Given the description of an element on the screen output the (x, y) to click on. 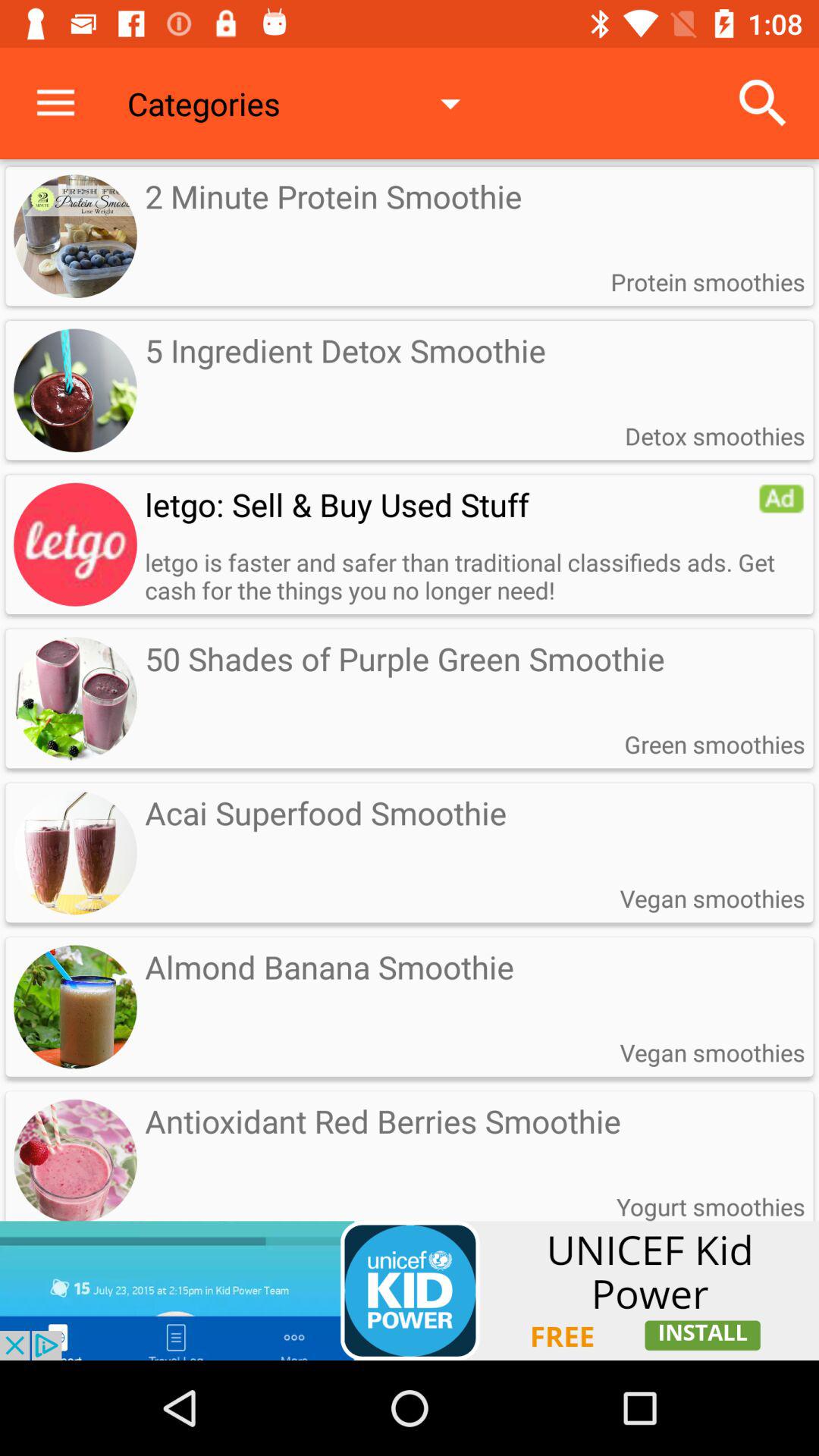
link to install an app (409, 1290)
